Given the description of an element on the screen output the (x, y) to click on. 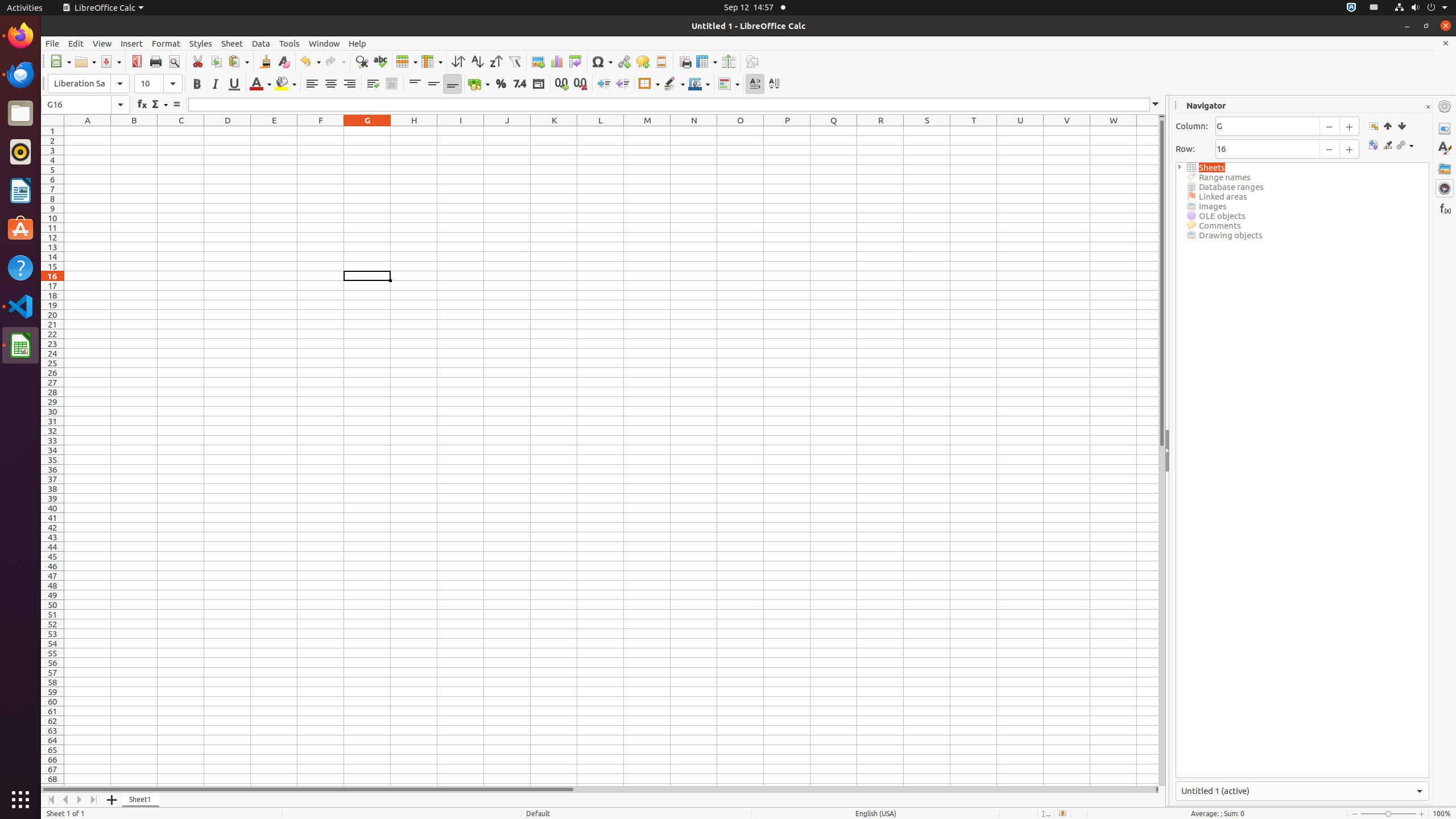
N1 Element type: table-cell (693, 130)
Open Element type: push-button (84, 61)
Cut Element type: push-button (197, 61)
Center Vertically Element type: push-button (433, 83)
Move Left Element type: push-button (65, 799)
